Given the description of an element on the screen output the (x, y) to click on. 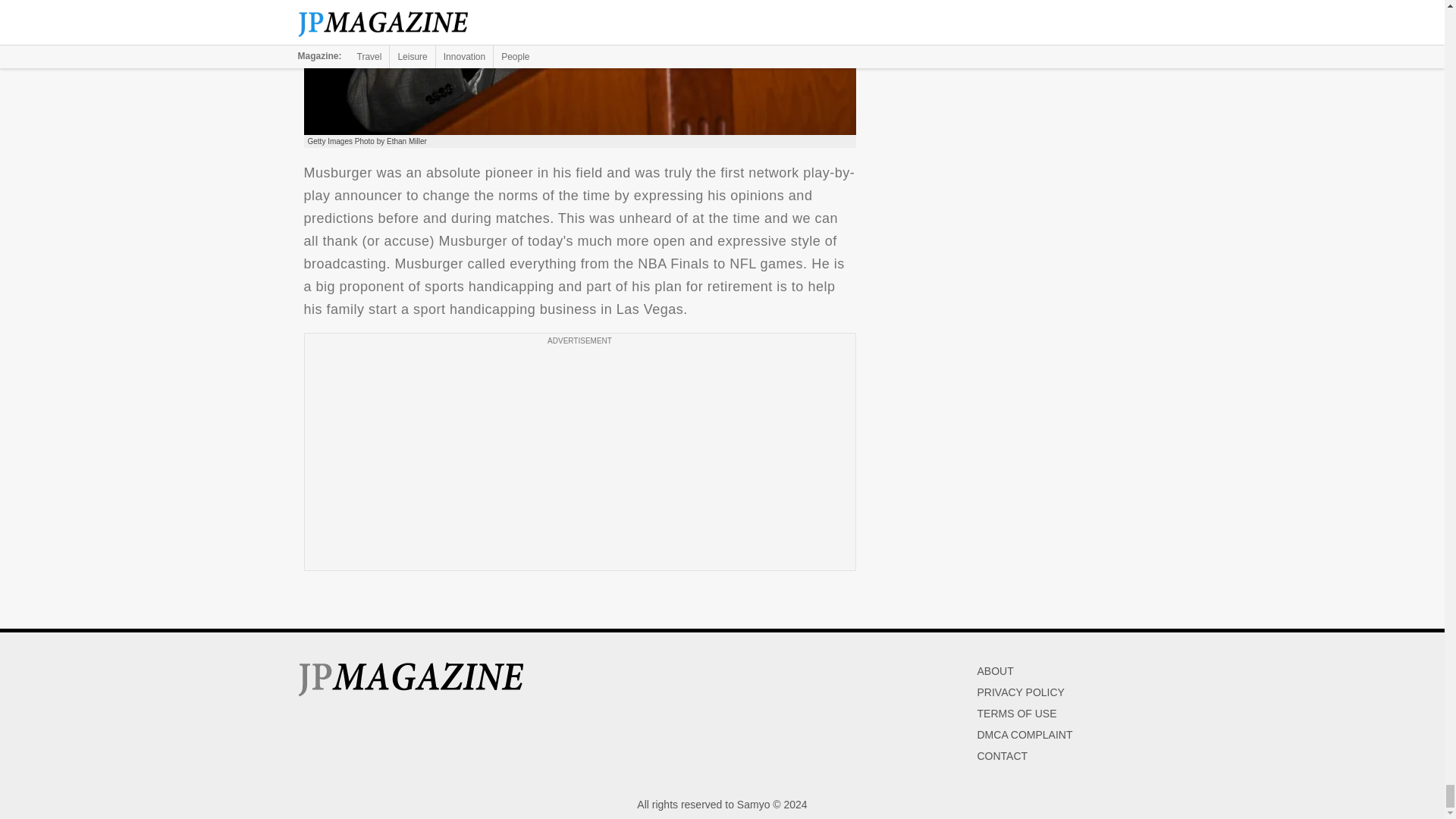
PRIVACY POLICY (1020, 692)
TERMS OF USE (1016, 713)
ABOUT (994, 671)
CONTACT (1001, 756)
DMCA COMPLAINT (1023, 734)
